Given the description of an element on the screen output the (x, y) to click on. 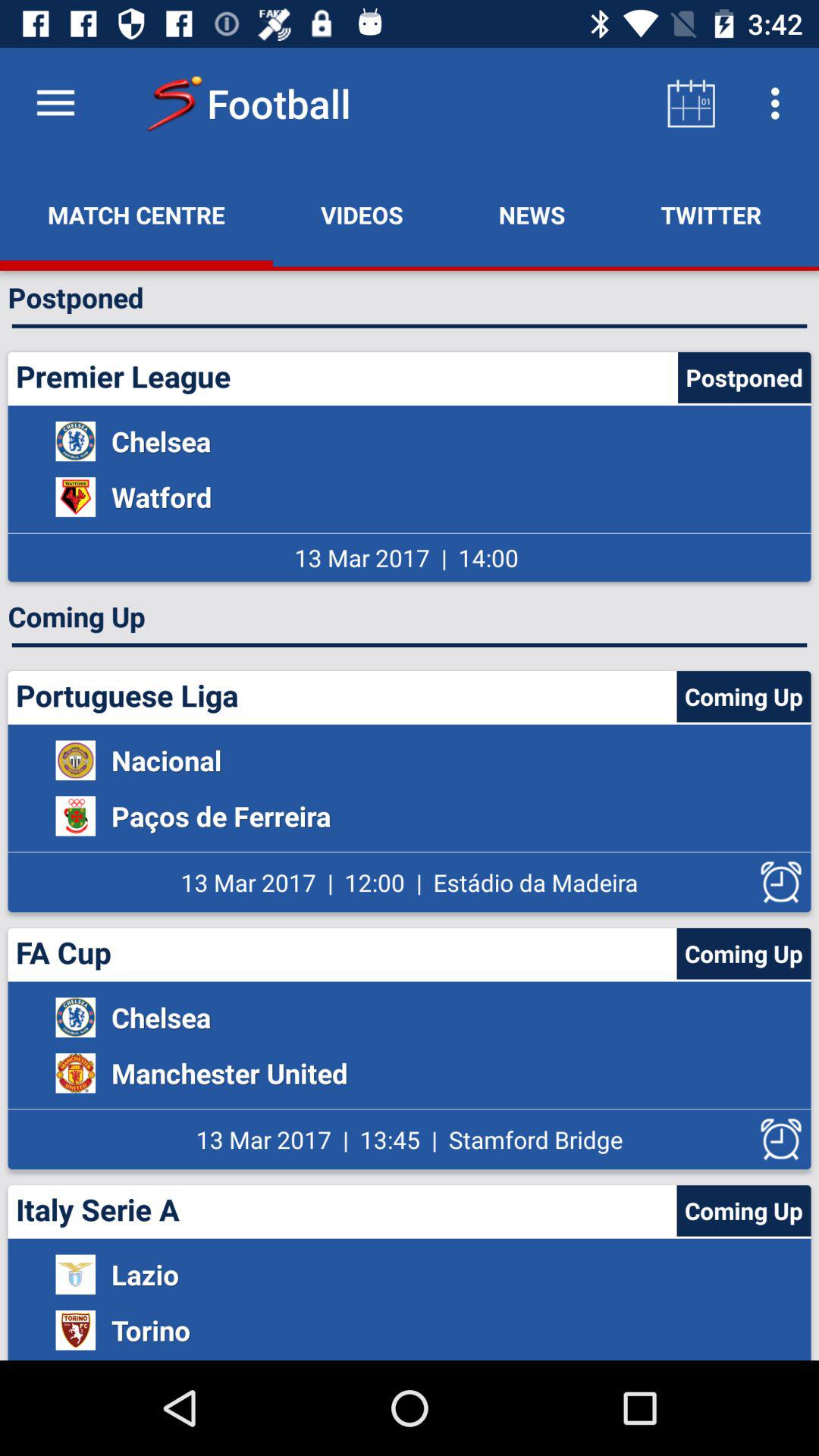
click the item next to news item (362, 214)
